Given the description of an element on the screen output the (x, y) to click on. 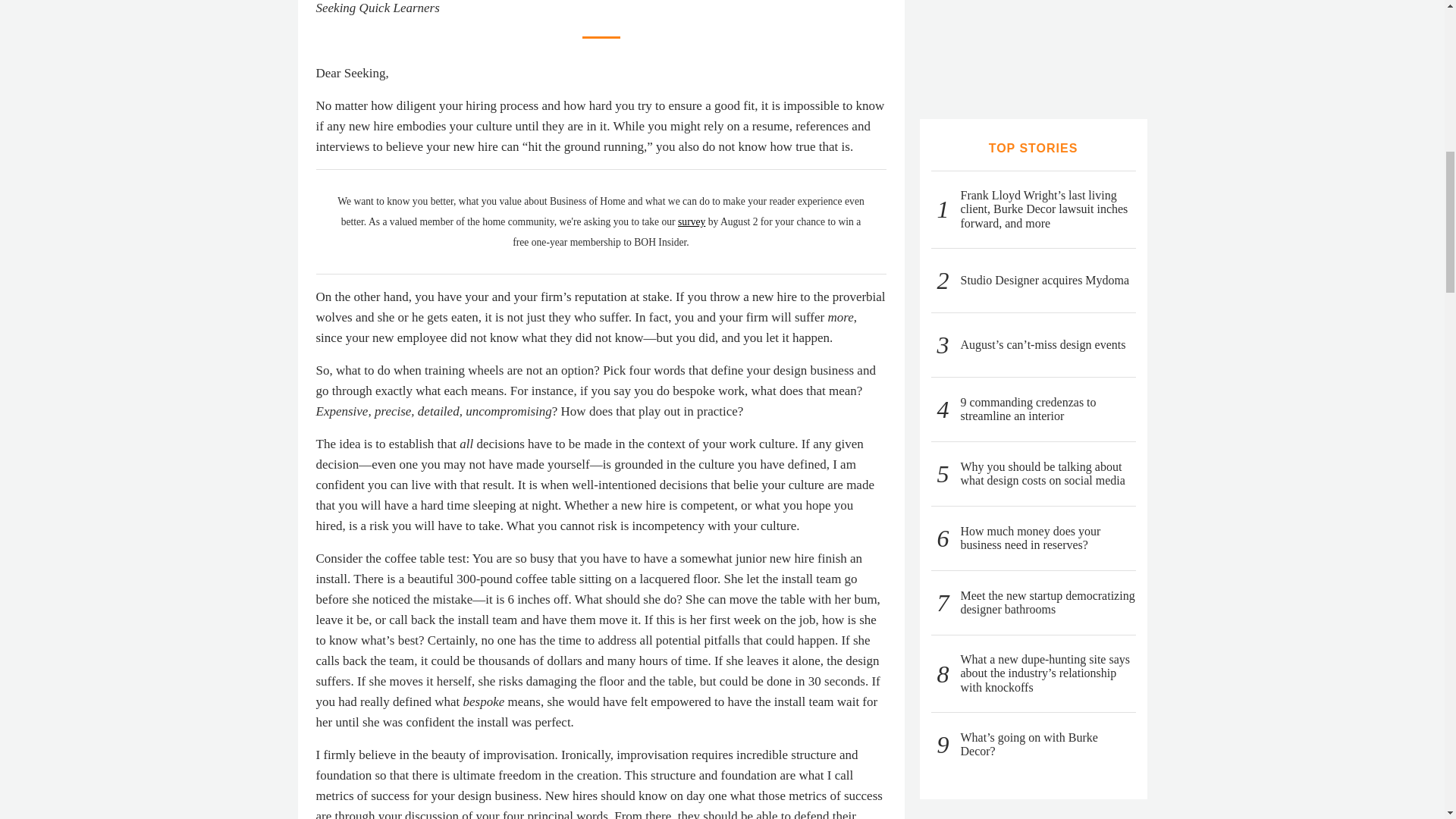
3rd party ad content (1032, 44)
